Given the description of an element on the screen output the (x, y) to click on. 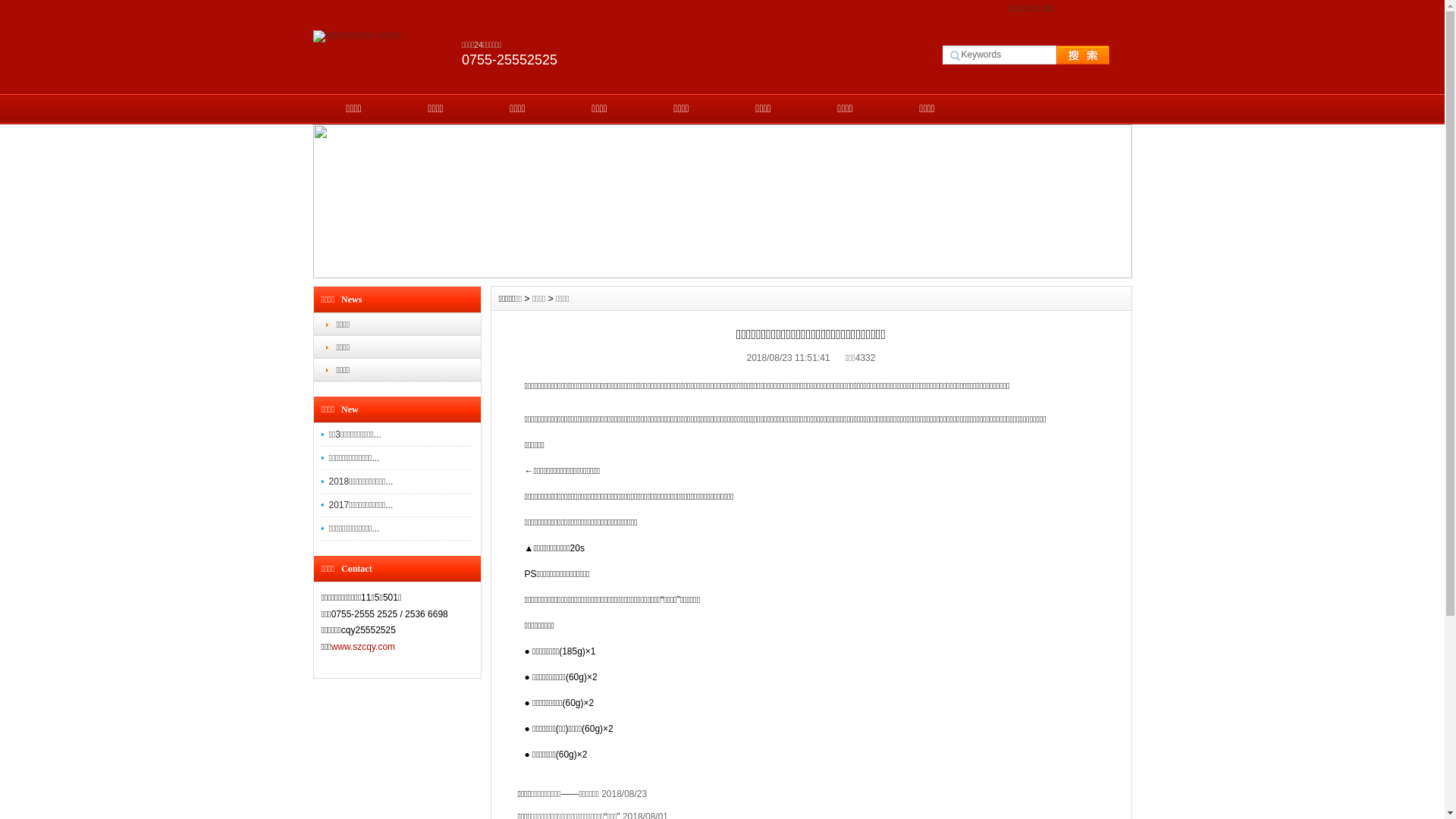
  Element type: text (1071, 54)
www.szcqy.com Element type: text (363, 646)
